Given the description of an element on the screen output the (x, y) to click on. 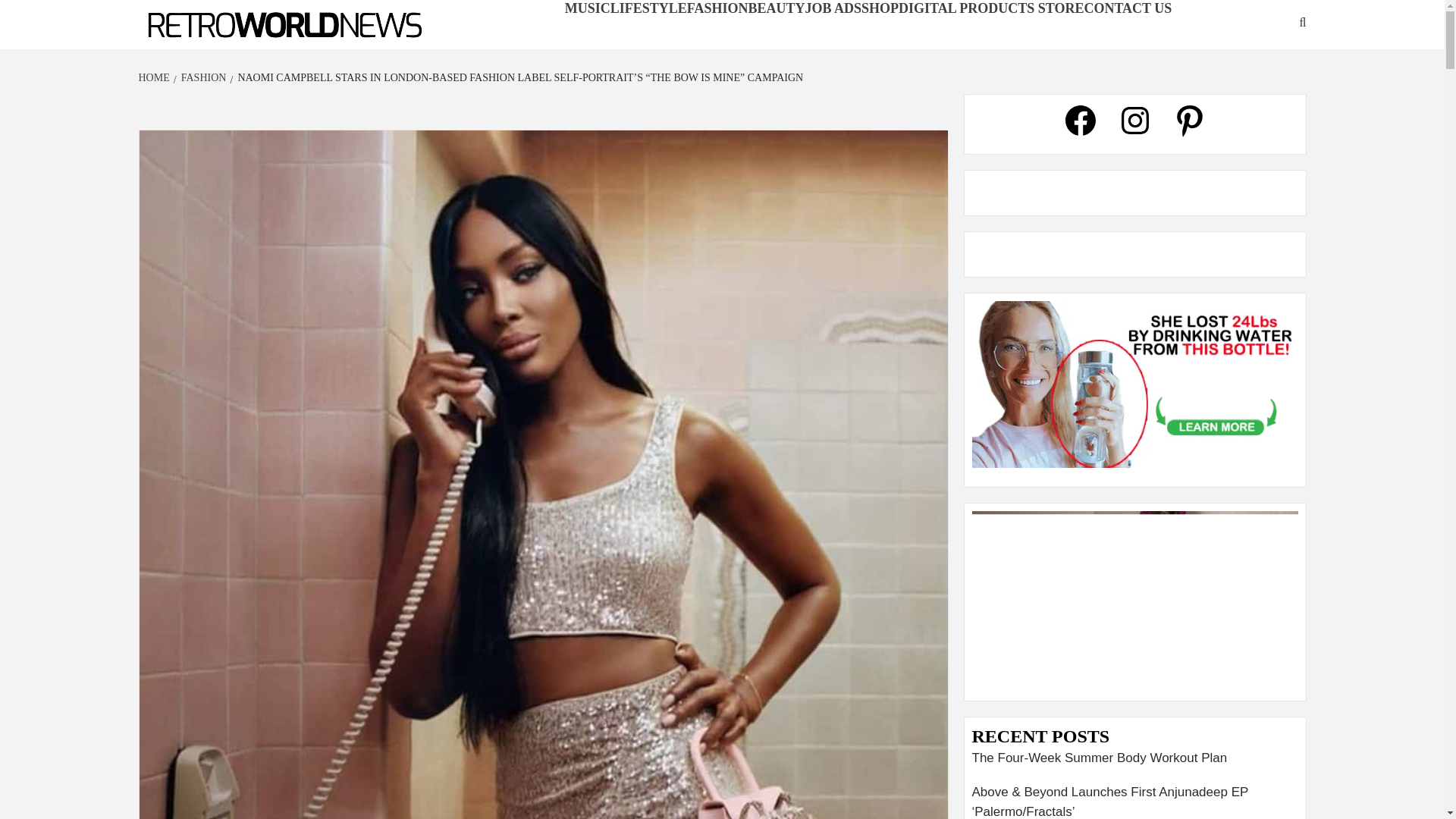
HOME (155, 77)
MUSIC (587, 7)
CONTACT US (1127, 7)
FASHION (717, 7)
DIGITAL PRODUCTS STORE (990, 7)
LIFESTYLE (648, 7)
JOB ADS (833, 7)
RETROWORLDNEWS (223, 48)
BEAUTY (776, 7)
FASHION (201, 77)
SHOP (879, 7)
